Given the description of an element on the screen output the (x, y) to click on. 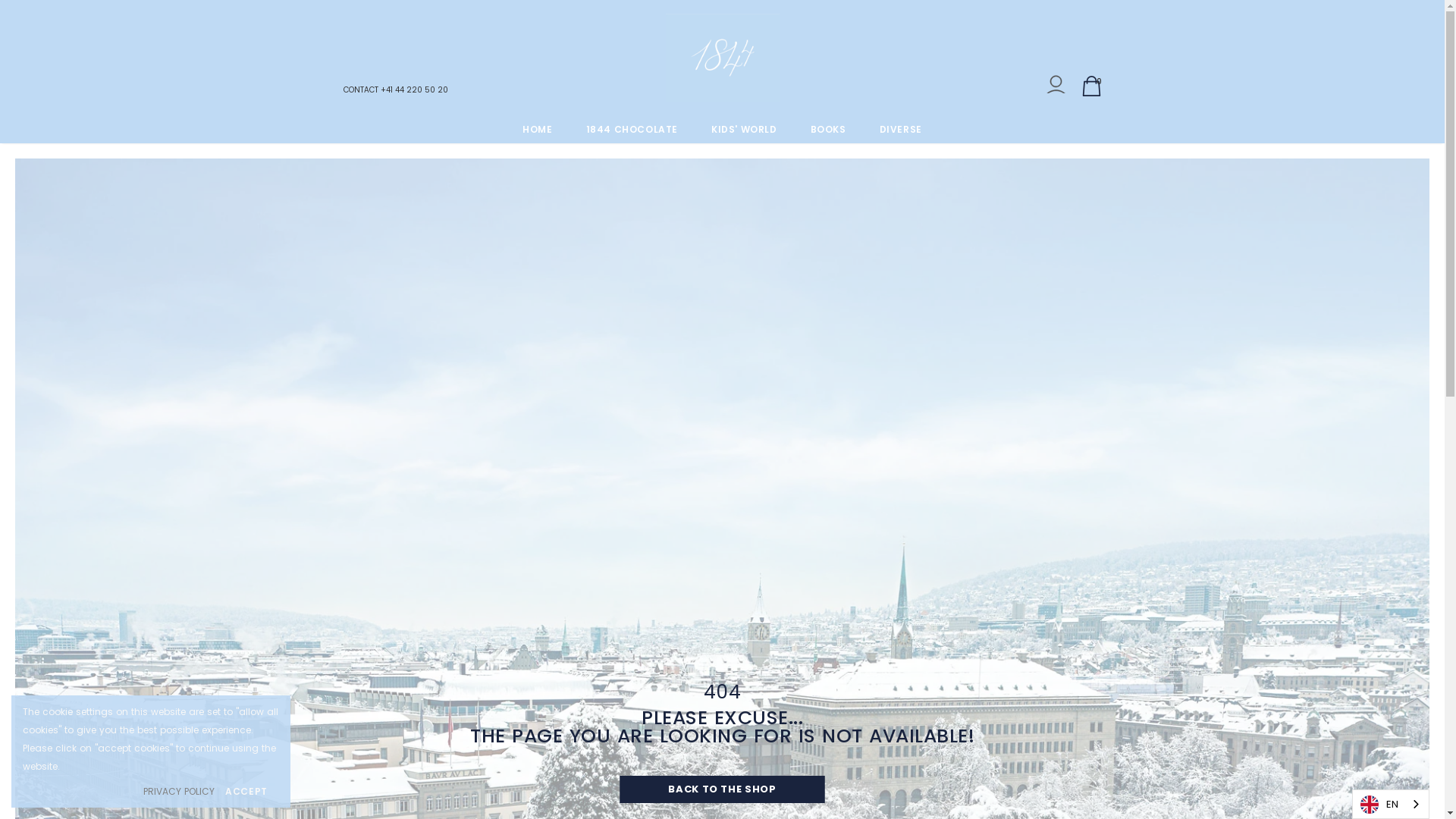
0 Element type: text (1091, 85)
1844 CHOCOLATE Element type: text (631, 129)
BOOKS Element type: text (828, 129)
Login Element type: text (1054, 87)
PRIVACY POLICY Element type: text (178, 791)
EN Element type: text (1390, 804)
Logo Element type: hover (722, 57)
BACK TO THE SHOP Element type: text (722, 789)
KIDS' WORLD Element type: text (744, 129)
DIVERSE Element type: text (900, 129)
HOME Element type: text (537, 129)
